Given the description of an element on the screen output the (x, y) to click on. 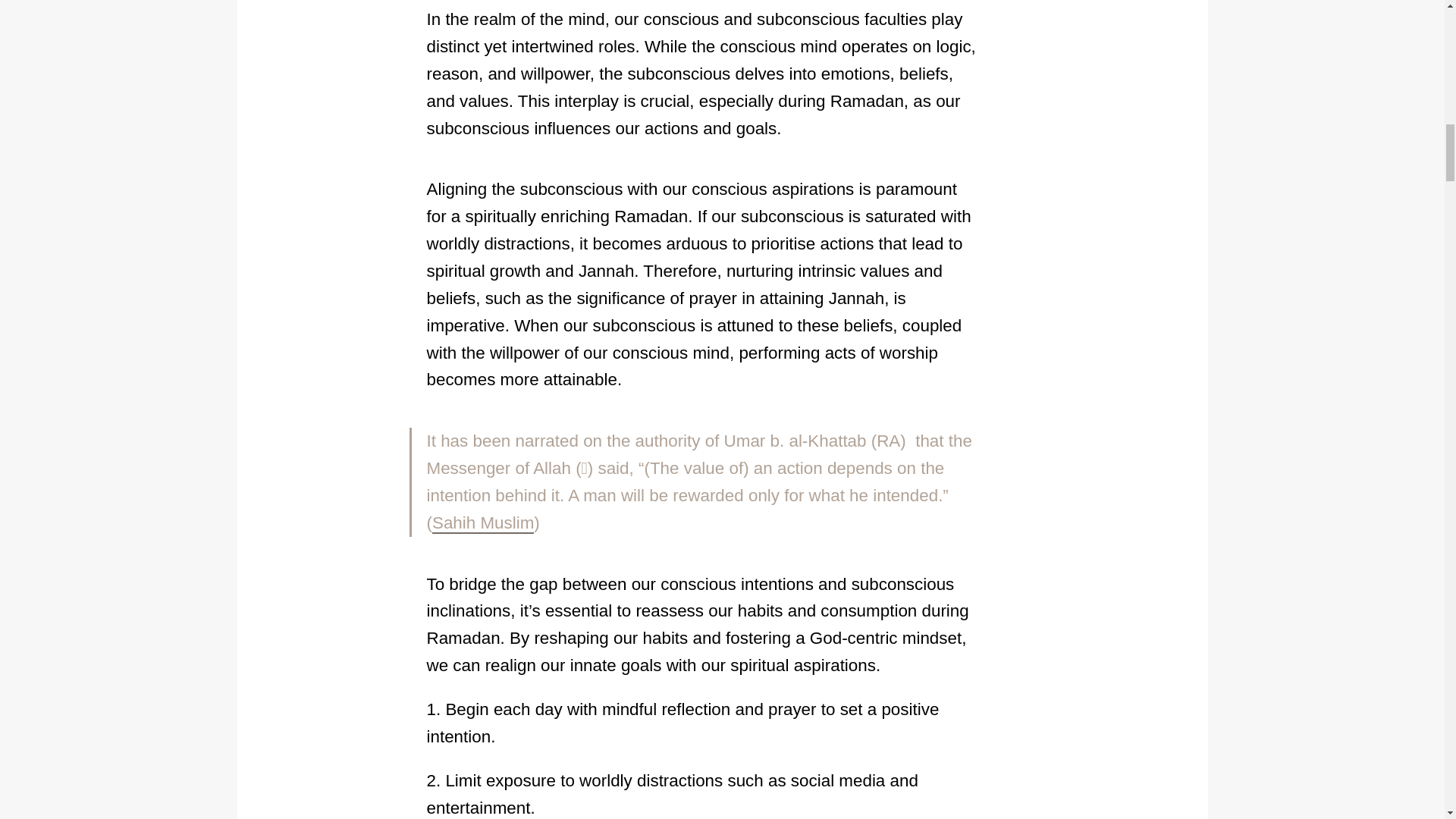
Sahih Muslim (483, 523)
